Given the description of an element on the screen output the (x, y) to click on. 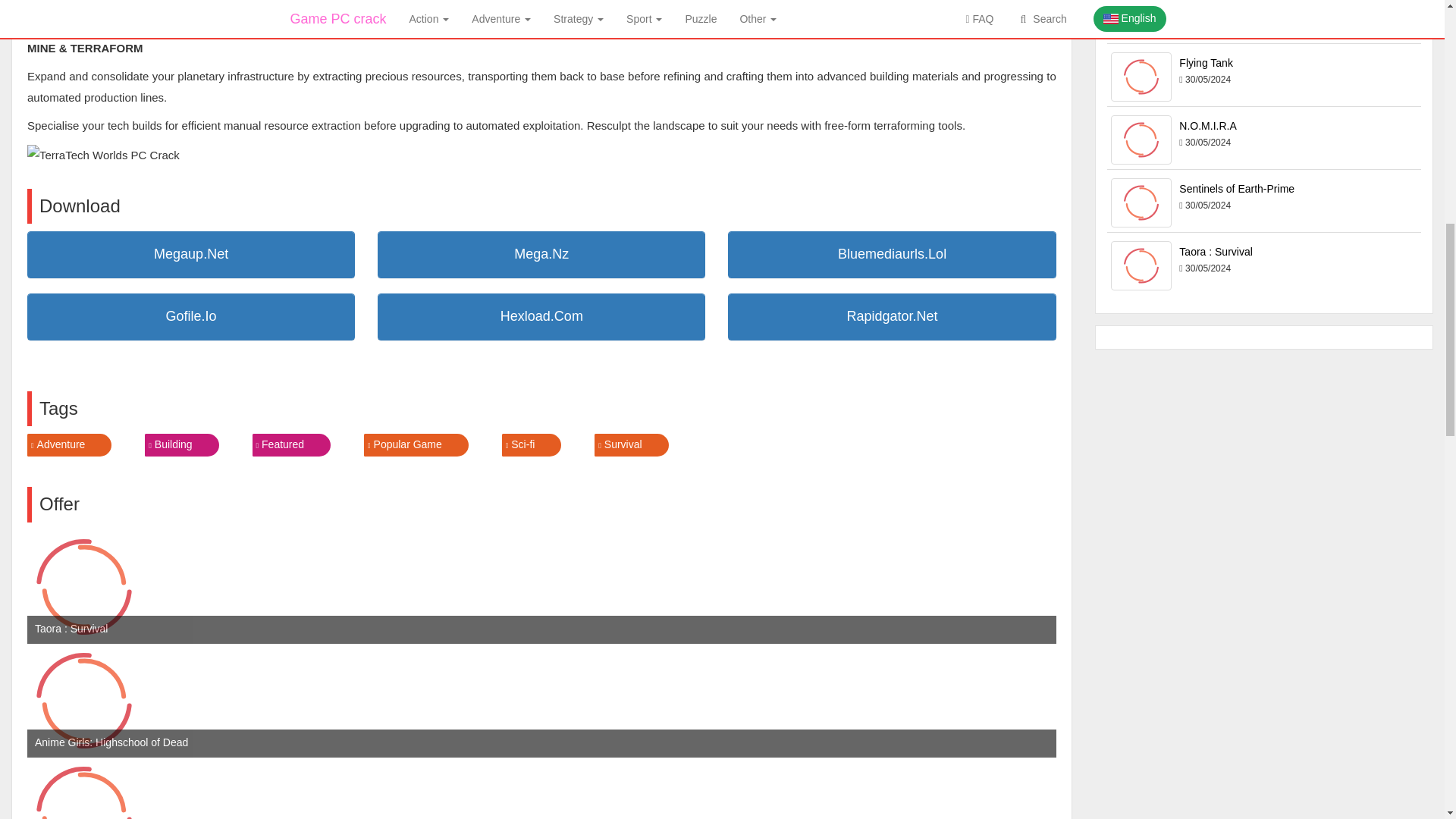
Bluemediaurls.Lol (891, 254)
Megaup.Net (190, 254)
TerraTech Worlds PC Crack (103, 154)
Serum (84, 788)
Taora : Survival (84, 586)
Mega.Nz (541, 254)
Anime Girls: Highschool of Dead (84, 700)
